Given the description of an element on the screen output the (x, y) to click on. 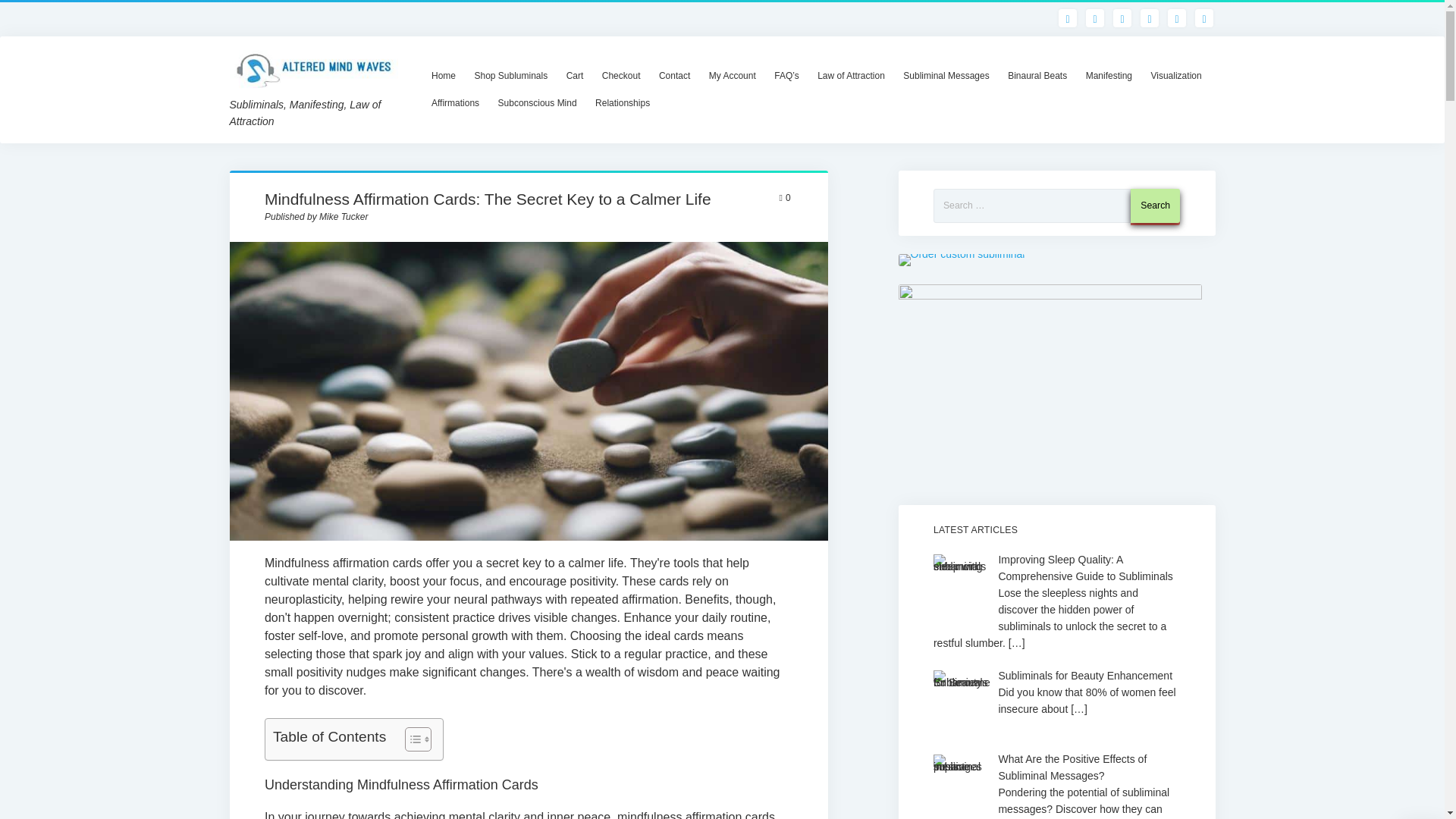
Subconscious Mind (537, 103)
Cart (574, 75)
My Account (732, 75)
Search (1155, 205)
Binaural Beats (1036, 75)
Law of Attraction (850, 75)
Checkout (620, 75)
Shop Subluminals (510, 75)
Manifesting (1109, 75)
Home (443, 75)
